Given the description of an element on the screen output the (x, y) to click on. 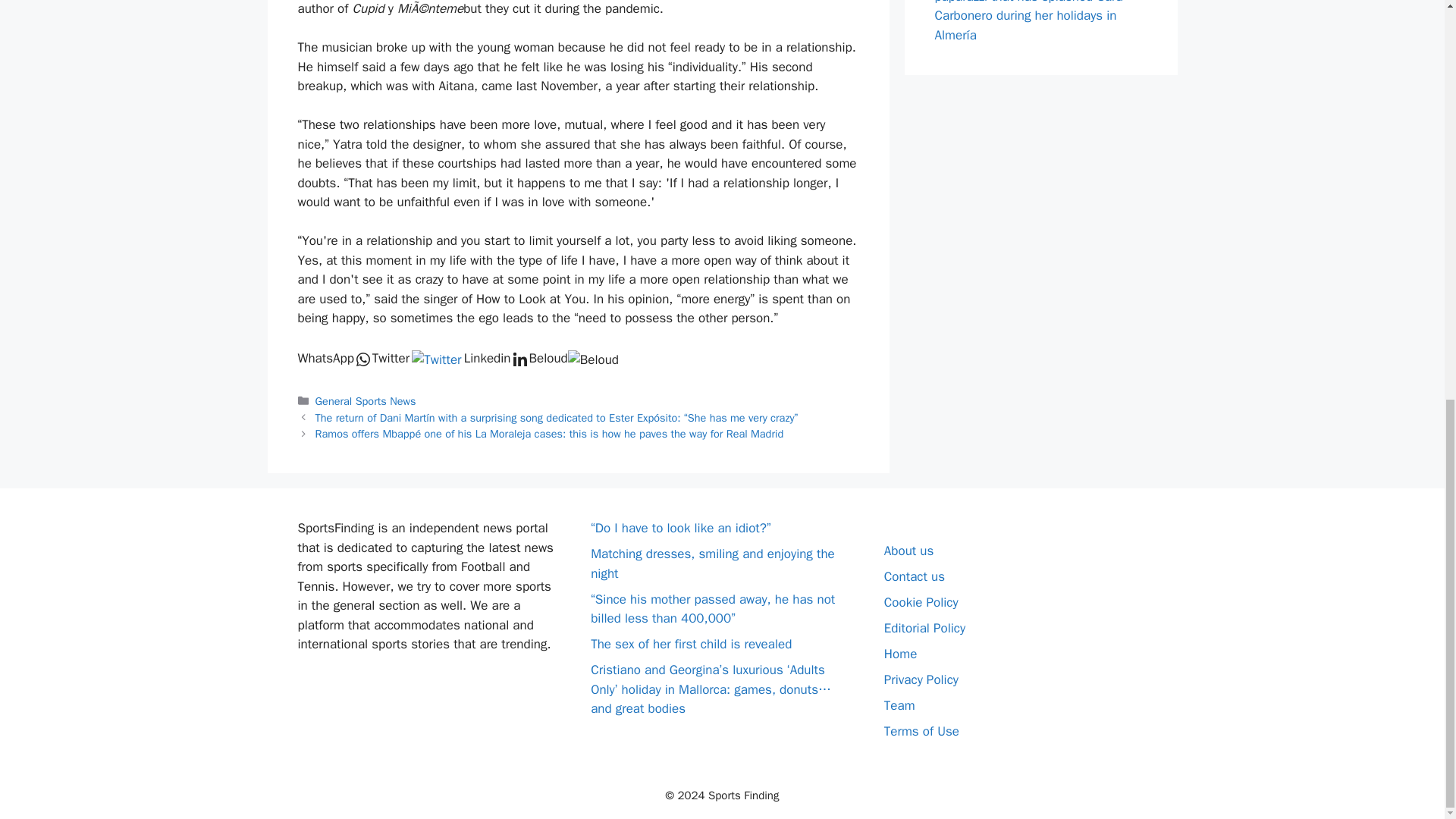
Contact us (913, 576)
Scroll back to top (1406, 758)
The sex of her first child is revealed (691, 643)
About us (908, 550)
Matching dresses, smiling and enjoying the night (712, 563)
Cookie Policy (920, 602)
Editorial Policy (924, 627)
General Sports News (365, 400)
